Given the description of an element on the screen output the (x, y) to click on. 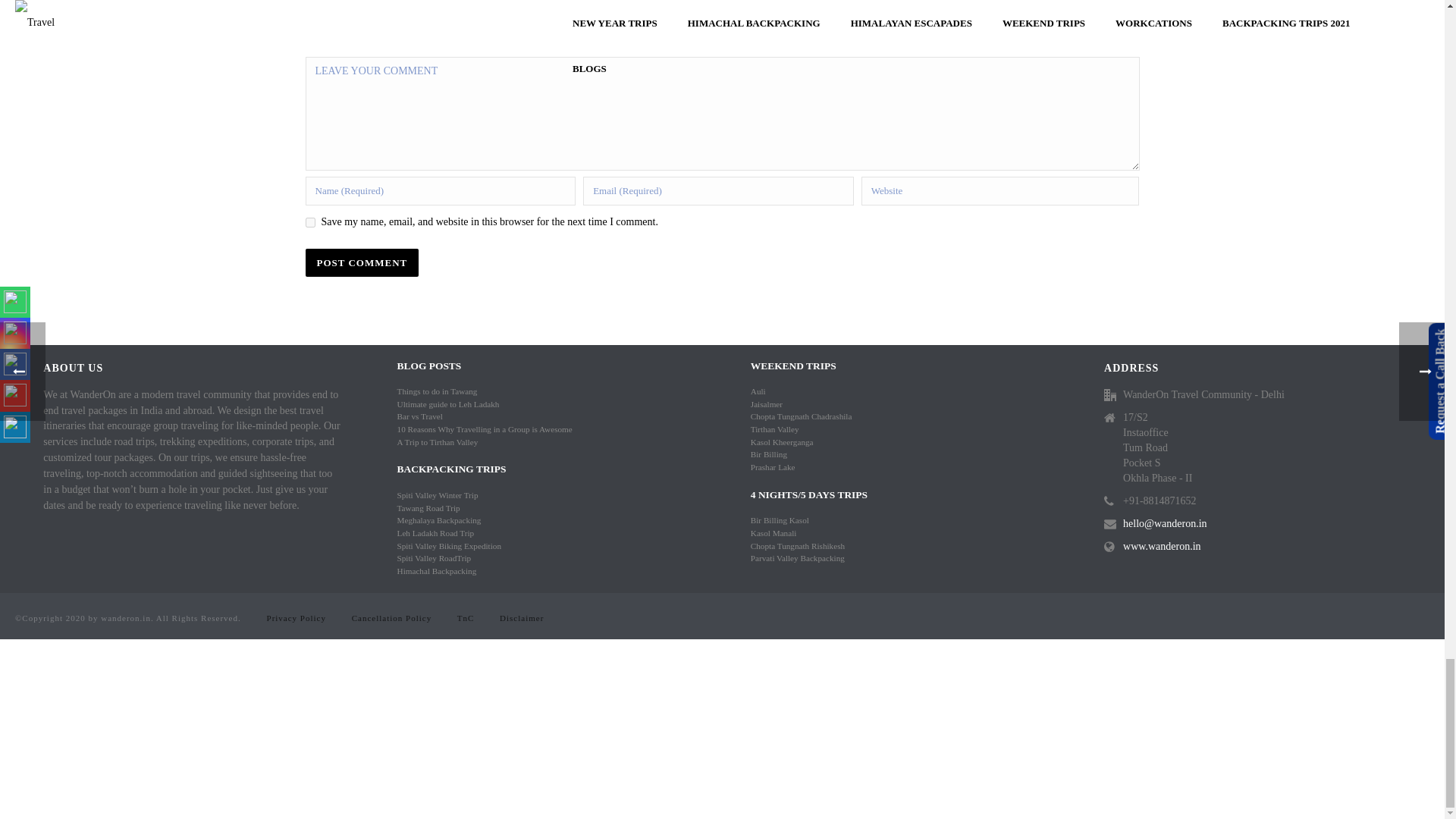
POST COMMENT (361, 262)
yes (309, 222)
